Given the description of an element on the screen output the (x, y) to click on. 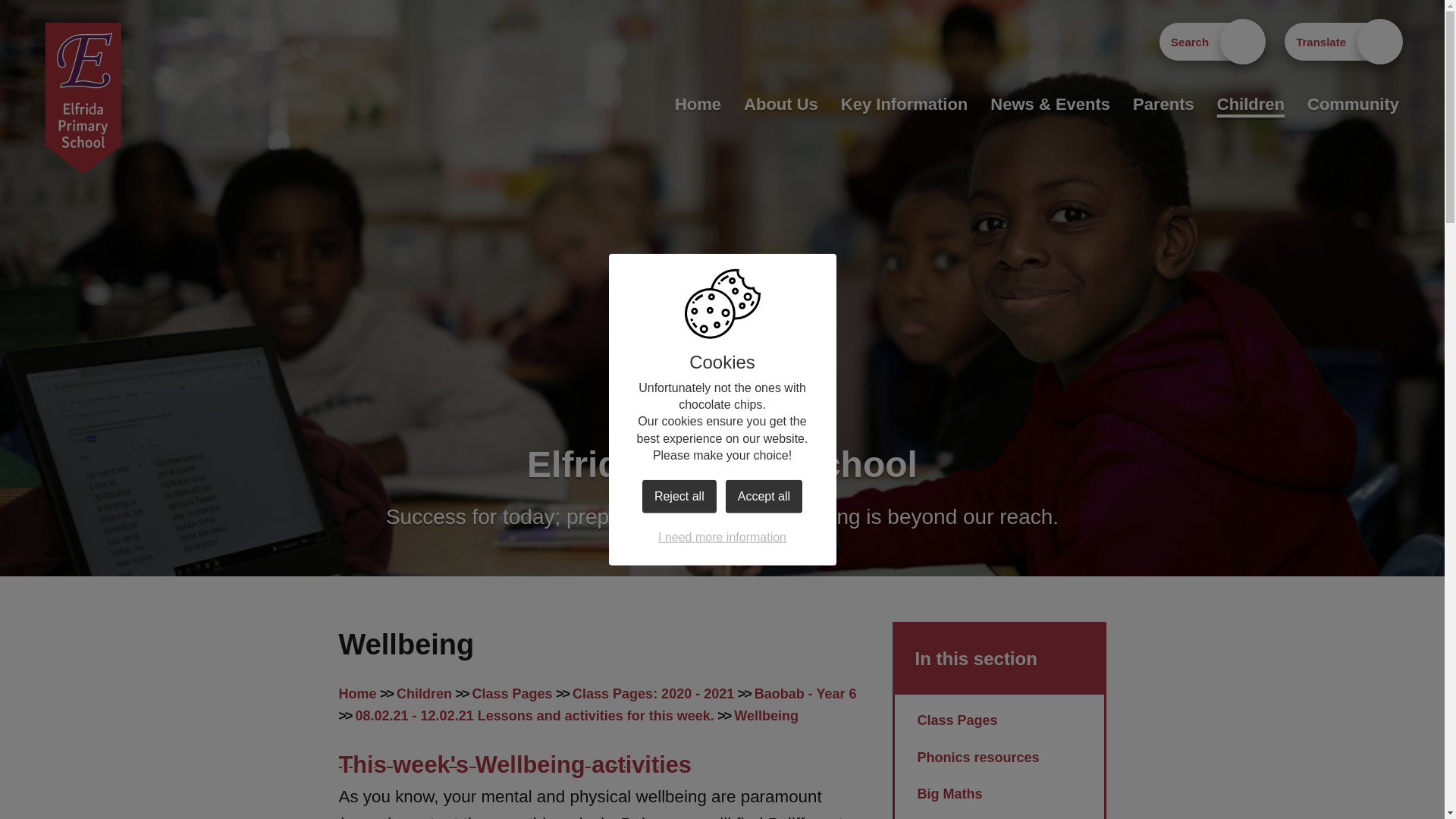
Translate (1341, 41)
Key Information (904, 103)
About Us (781, 103)
Home (697, 103)
Search (1210, 41)
